Given the description of an element on the screen output the (x, y) to click on. 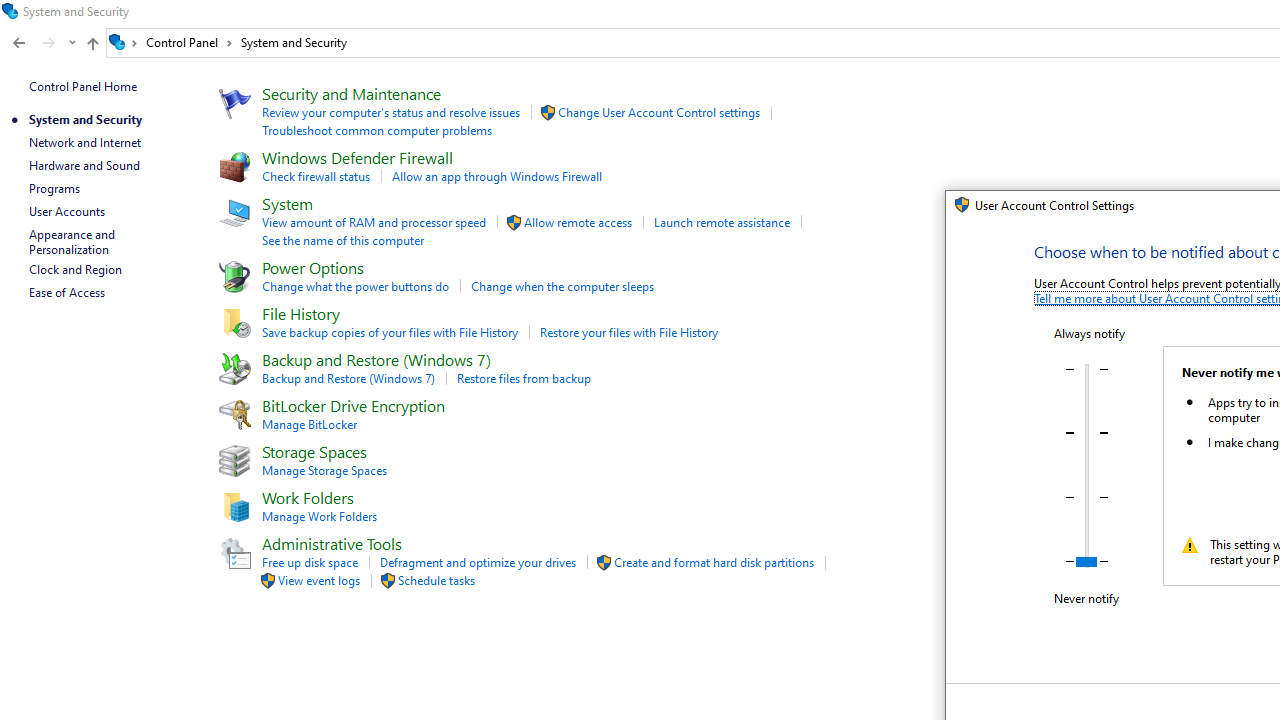
System (956, 209)
Notification level: (1086, 465)
Page up (1087, 460)
System (956, 209)
